Given the description of an element on the screen output the (x, y) to click on. 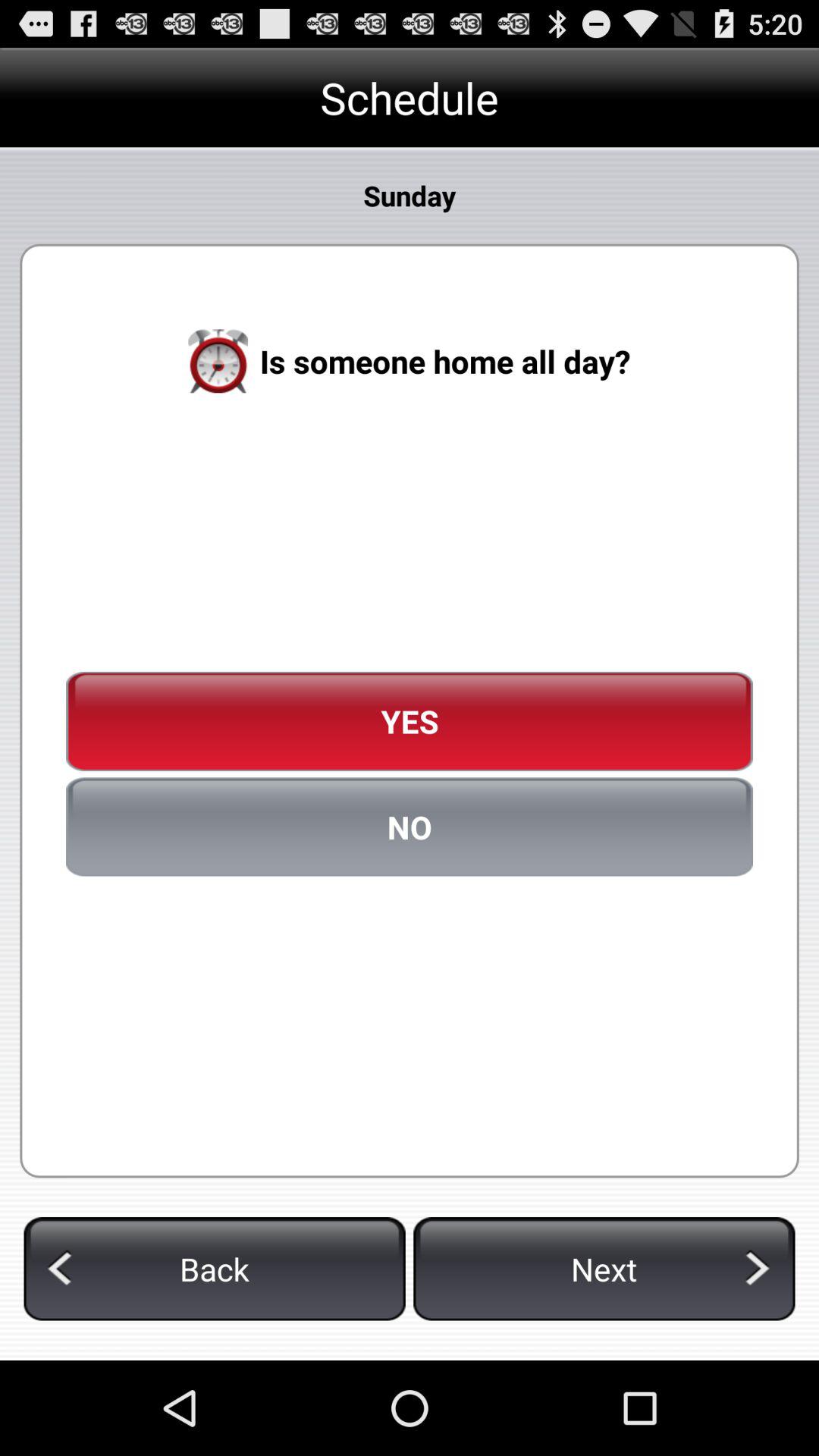
launch the item below yes (409, 827)
